Given the description of an element on the screen output the (x, y) to click on. 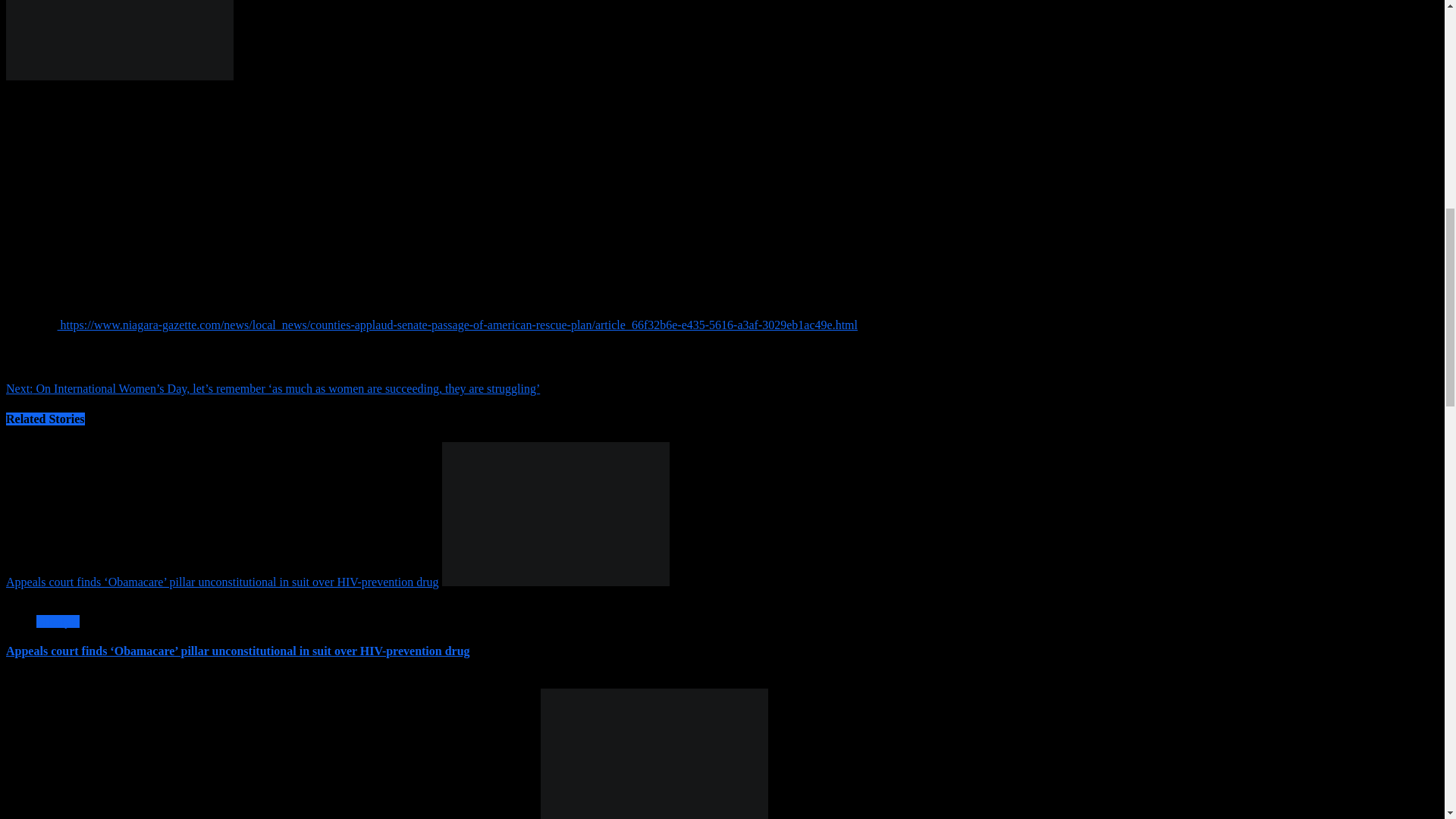
Lifestyle (58, 621)
